Given the description of an element on the screen output the (x, y) to click on. 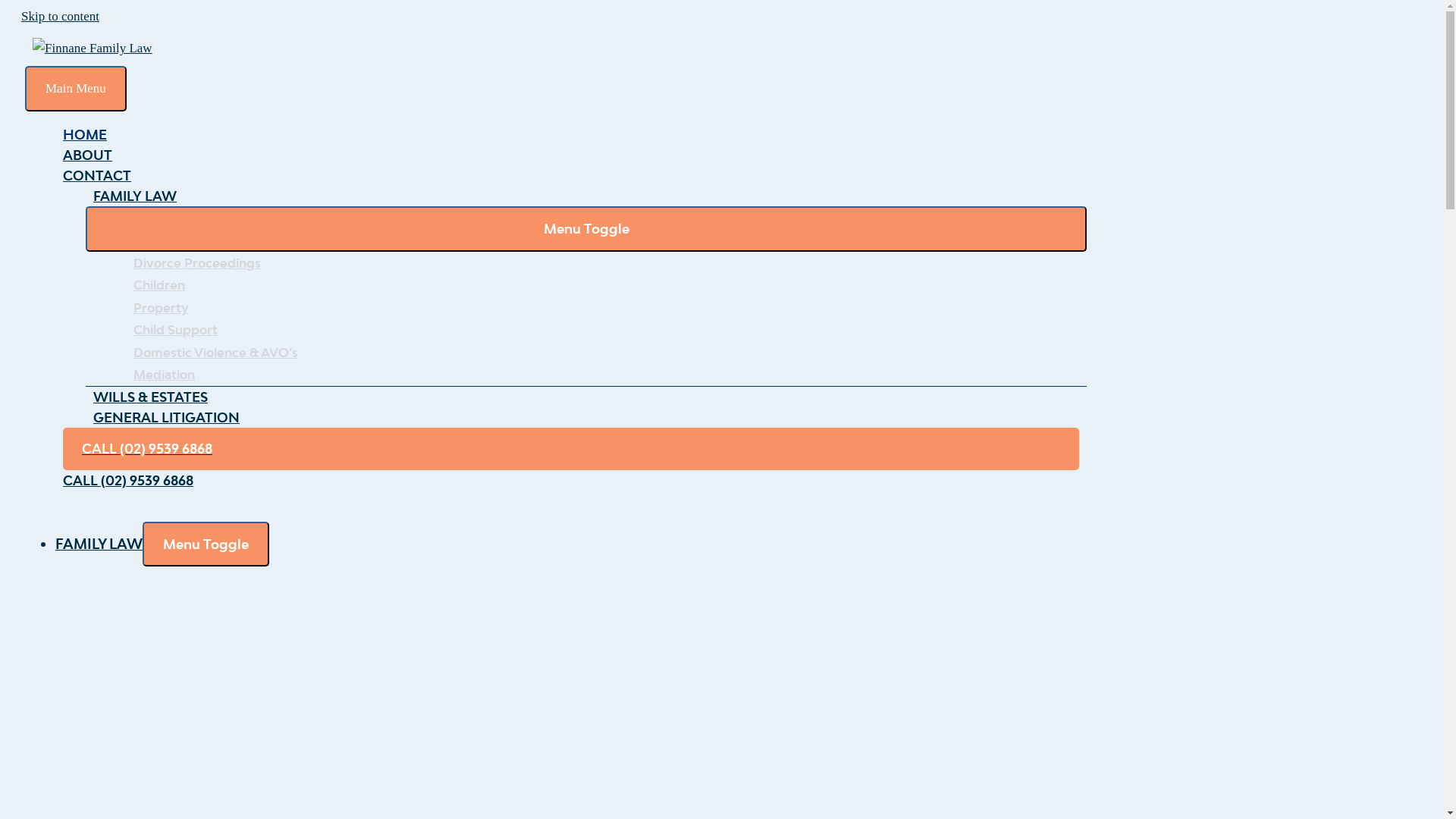
HOME Element type: text (570, 134)
Property Element type: text (601, 307)
FAMILY LAW Element type: text (585, 195)
Skip to content Element type: text (60, 16)
CALL (02) 9539 6868 Element type: text (570, 480)
Divorce Proceedings Element type: text (601, 262)
Child Support Element type: text (601, 329)
Menu Toggle Element type: text (205, 543)
Mediation Element type: text (601, 374)
Main Menu Element type: text (75, 87)
Menu Toggle Element type: text (585, 228)
Children Element type: text (601, 284)
GENERAL LITIGATION Element type: text (585, 417)
ABOUT Element type: text (570, 154)
CALL (02) 9539 6868 Element type: text (570, 448)
CONTACT Element type: text (570, 175)
FAMILY LAW Element type: text (98, 543)
WILLS & ESTATES Element type: text (585, 396)
